Given the description of an element on the screen output the (x, y) to click on. 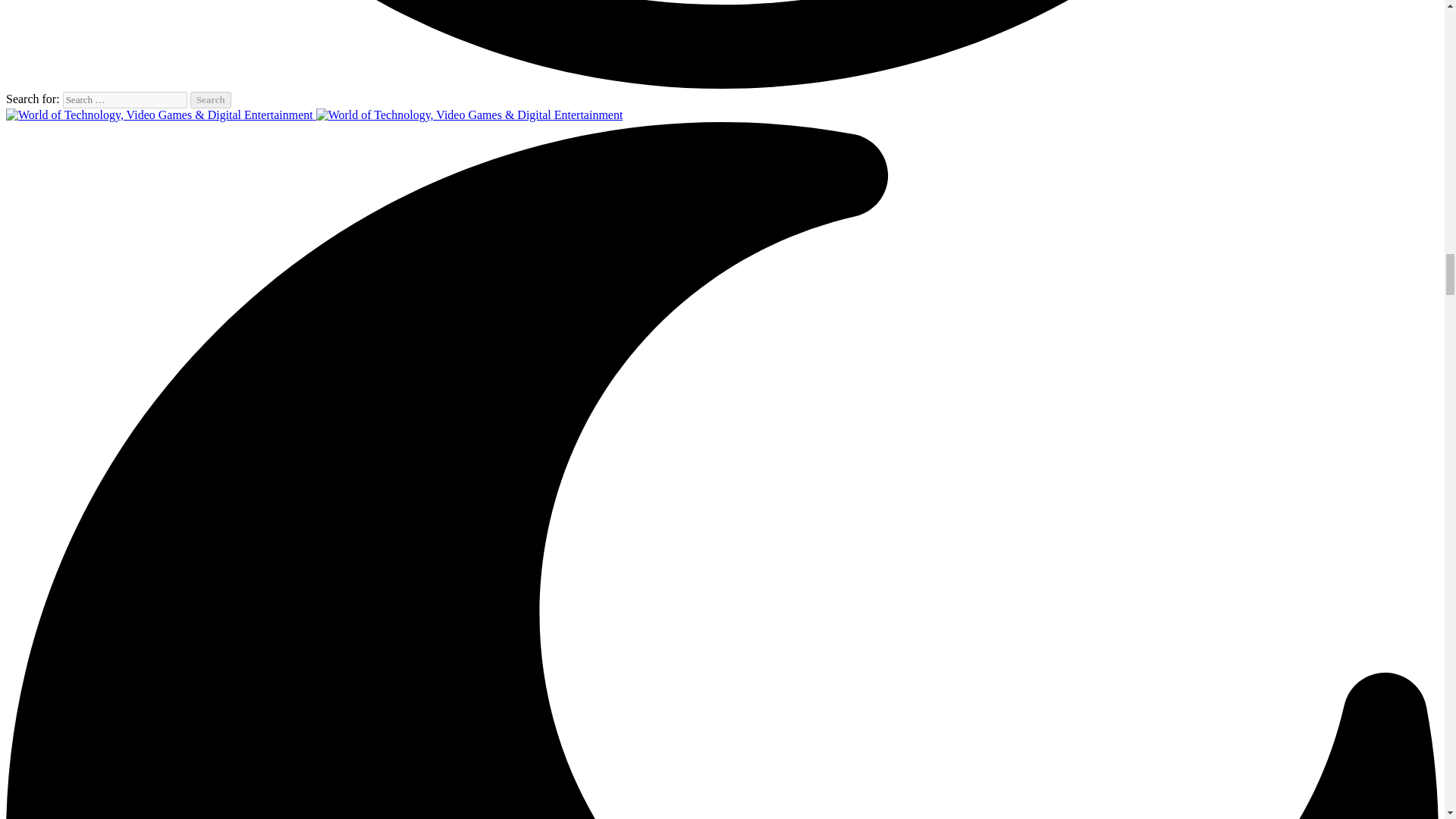
Search (210, 99)
Search (210, 99)
